Given the description of an element on the screen output the (x, y) to click on. 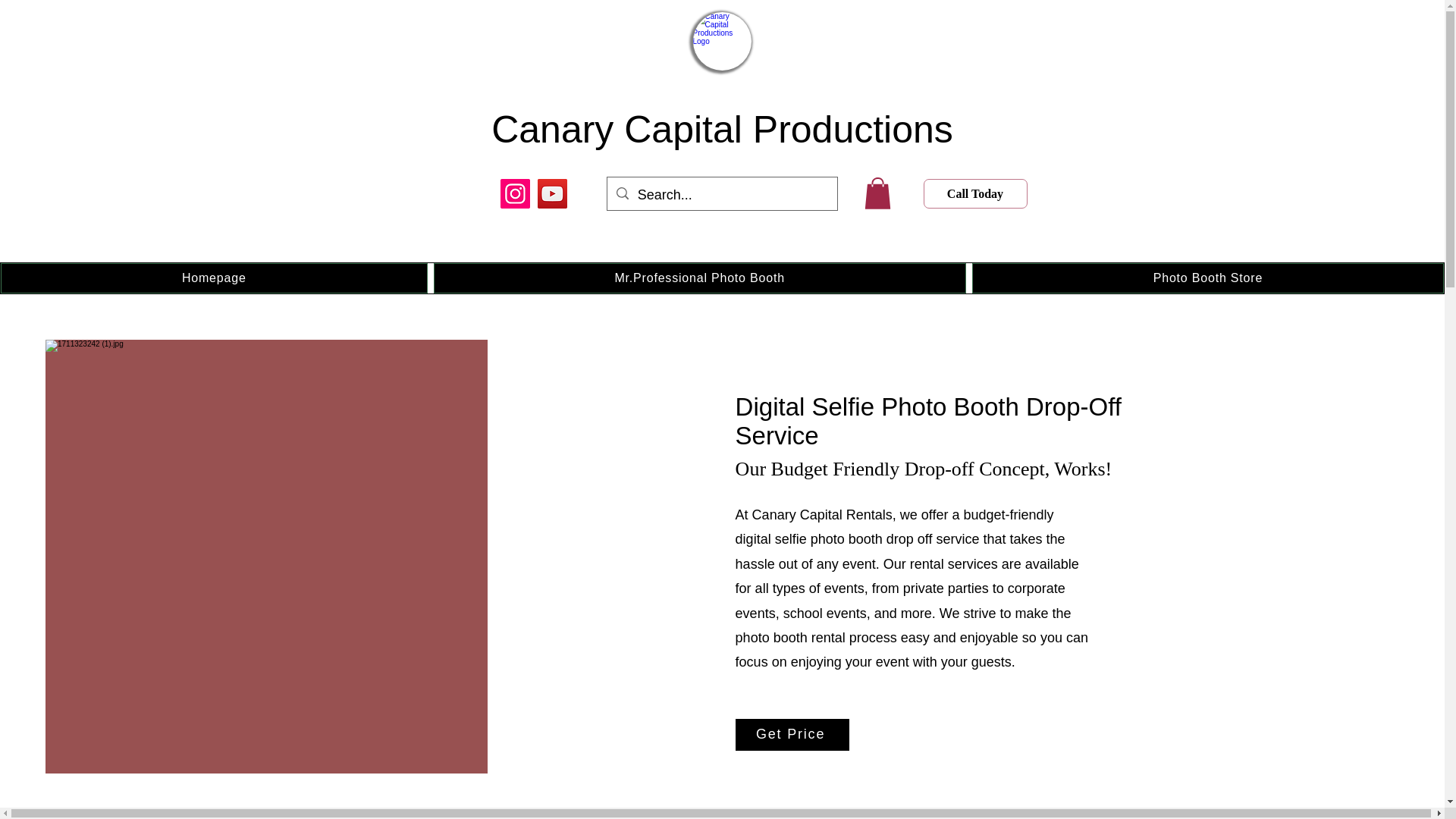
Get Price (791, 735)
Photo Booth Store (1208, 277)
Mr.Professional Photo Booth (699, 277)
Homepage (214, 277)
Call Today (975, 193)
